Given the description of an element on the screen output the (x, y) to click on. 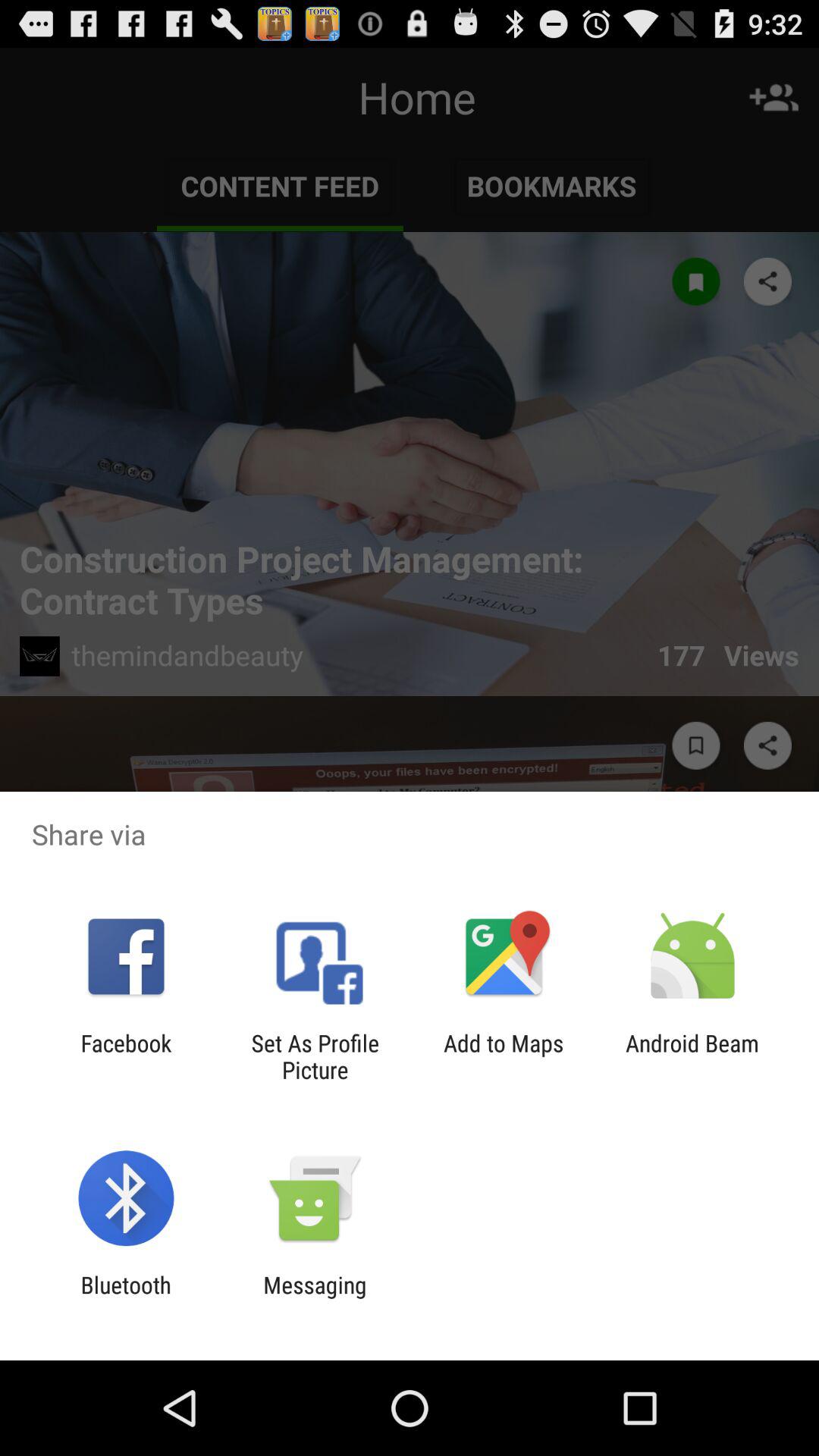
scroll until set as profile (314, 1056)
